Given the description of an element on the screen output the (x, y) to click on. 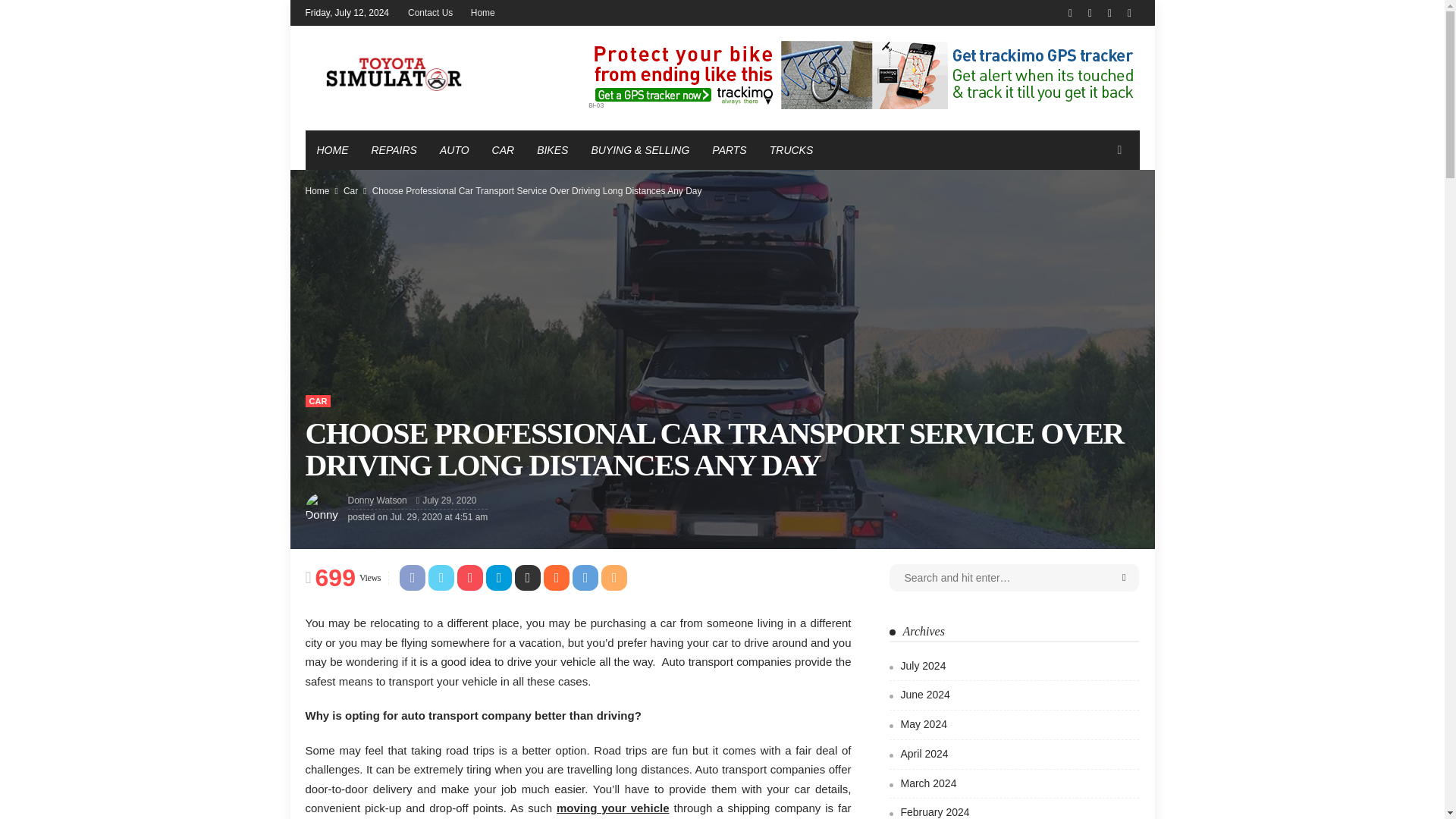
CAR (502, 149)
HOME (331, 149)
TRUCKS (791, 149)
PARTS (728, 149)
Car (350, 190)
search (1118, 149)
Home (482, 12)
Contact Us (430, 12)
AUTO (454, 149)
CAR (317, 399)
Home (316, 190)
REPAIRS (393, 149)
BIKES (552, 149)
